Given the description of an element on the screen output the (x, y) to click on. 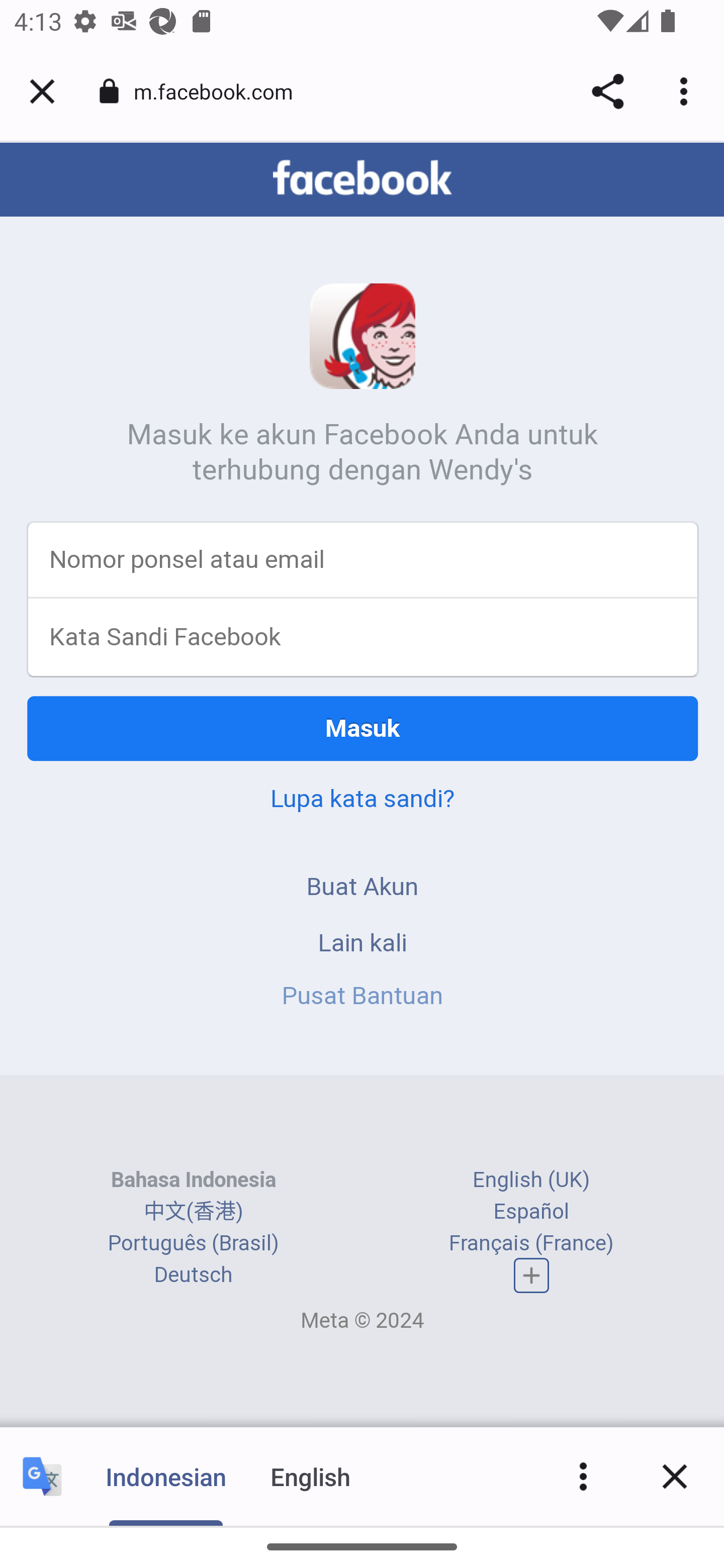
Close tab (42, 91)
Share (607, 91)
More options (687, 91)
Connection is secure (108, 91)
m.facebook.com (219, 90)
facebook (361, 179)
Masuk (363, 729)
Lupa kata sandi? (362, 800)
Buat Akun (363, 887)
Lain kali (362, 943)
Pusat Bantuan (363, 996)
English (UK) (531, 1181)
中文(香港) (193, 1212)
Español (531, 1212)
Português (Brasil) (193, 1243)
Français (France) (530, 1243)
Daftar bahasa lengkap (531, 1277)
Deutsch (192, 1275)
English (310, 1475)
More options (582, 1475)
Close (674, 1475)
